Given the description of an element on the screen output the (x, y) to click on. 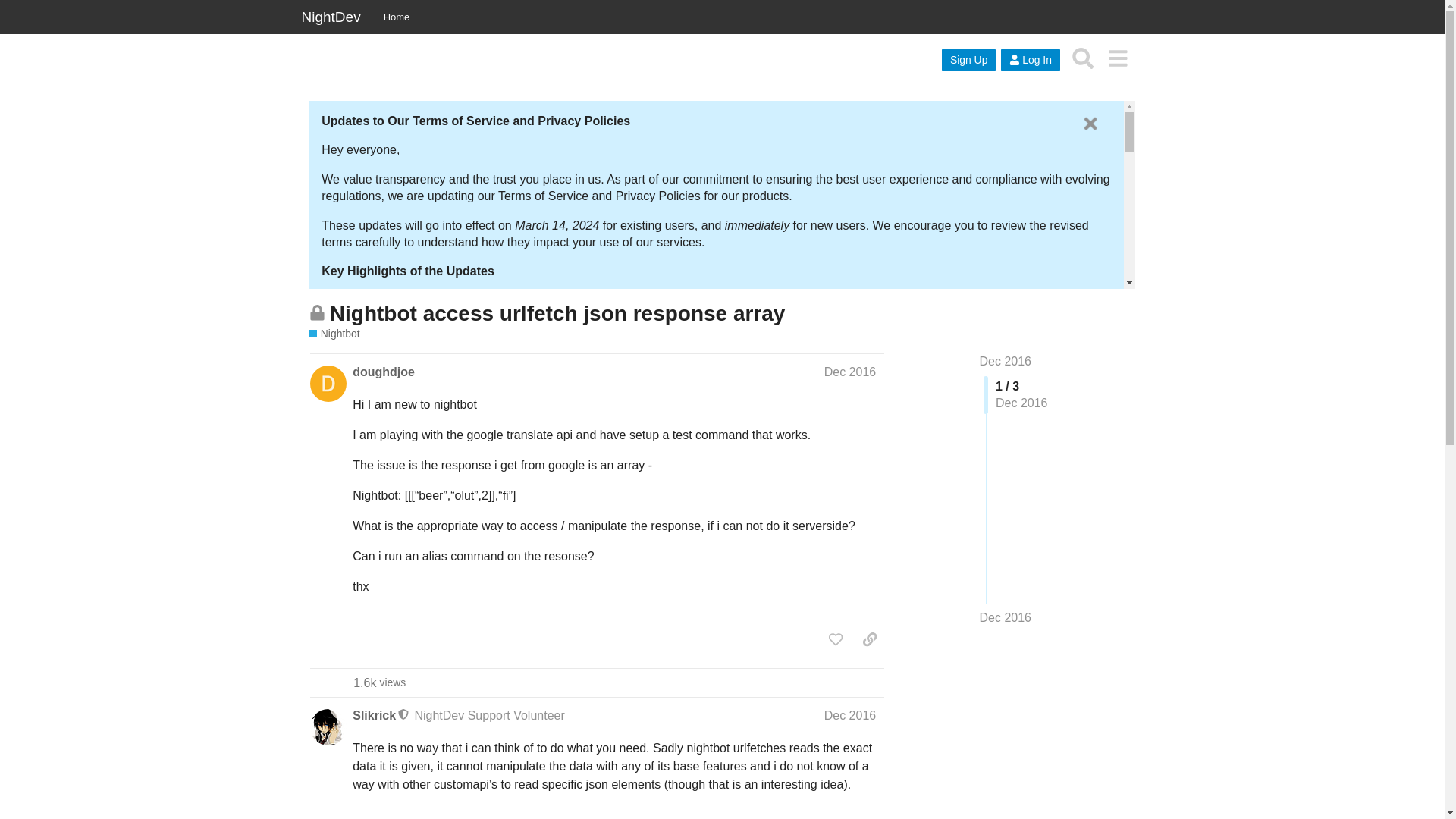
menu (1117, 57)
NightDev (330, 17)
copy a link to this post to clipboard (869, 638)
Terms of Service (381, 676)
Privacy Policy (374, 543)
Dec 2016 (850, 715)
Terms of Service (381, 525)
Home (397, 17)
Dec 2016 (1005, 617)
Jump to the first post (1005, 360)
